Given the description of an element on the screen output the (x, y) to click on. 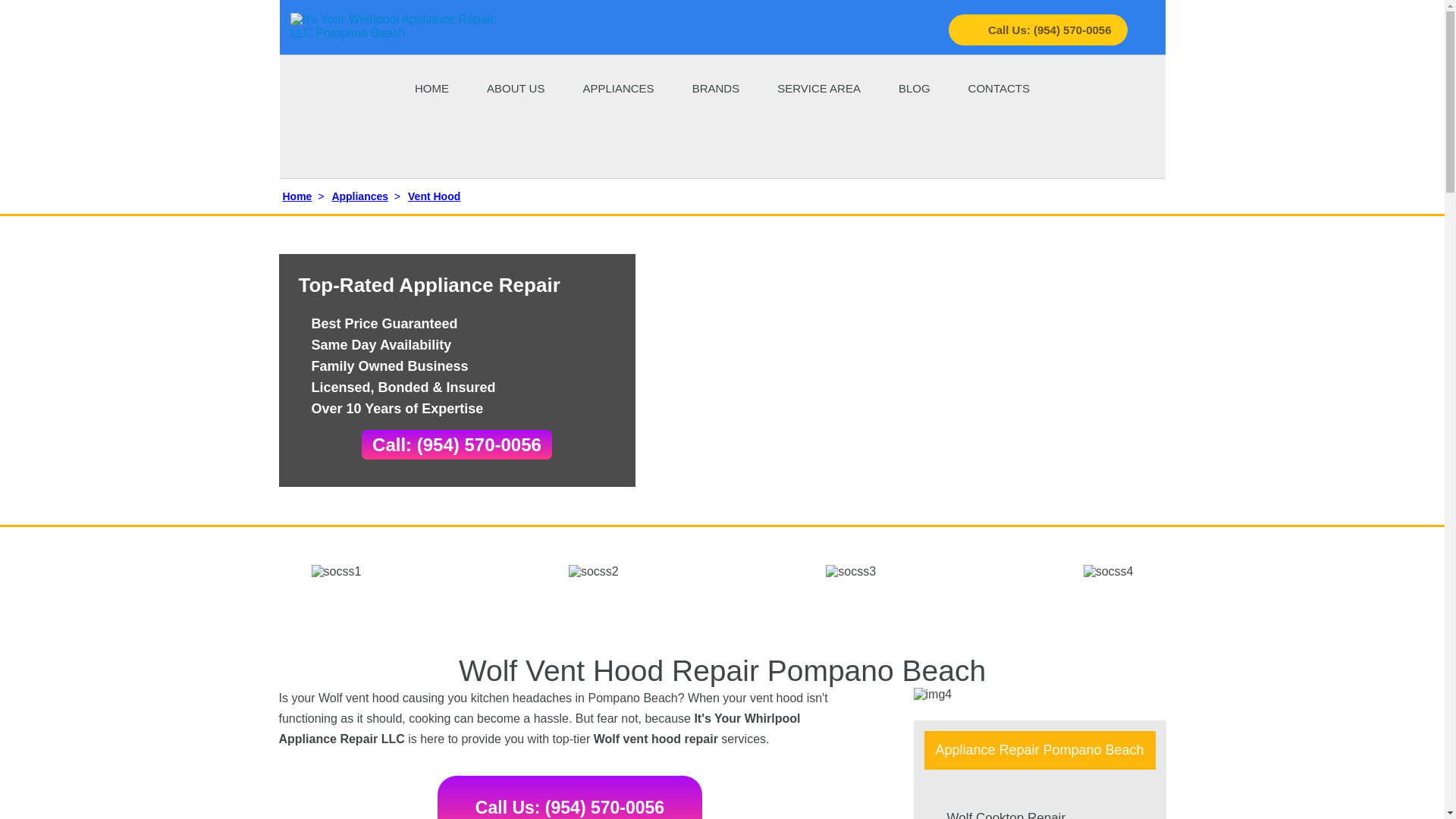
ABOUT US (515, 87)
HOME (431, 87)
APPLIANCES (617, 87)
BRANDS (715, 87)
